Given the description of an element on the screen output the (x, y) to click on. 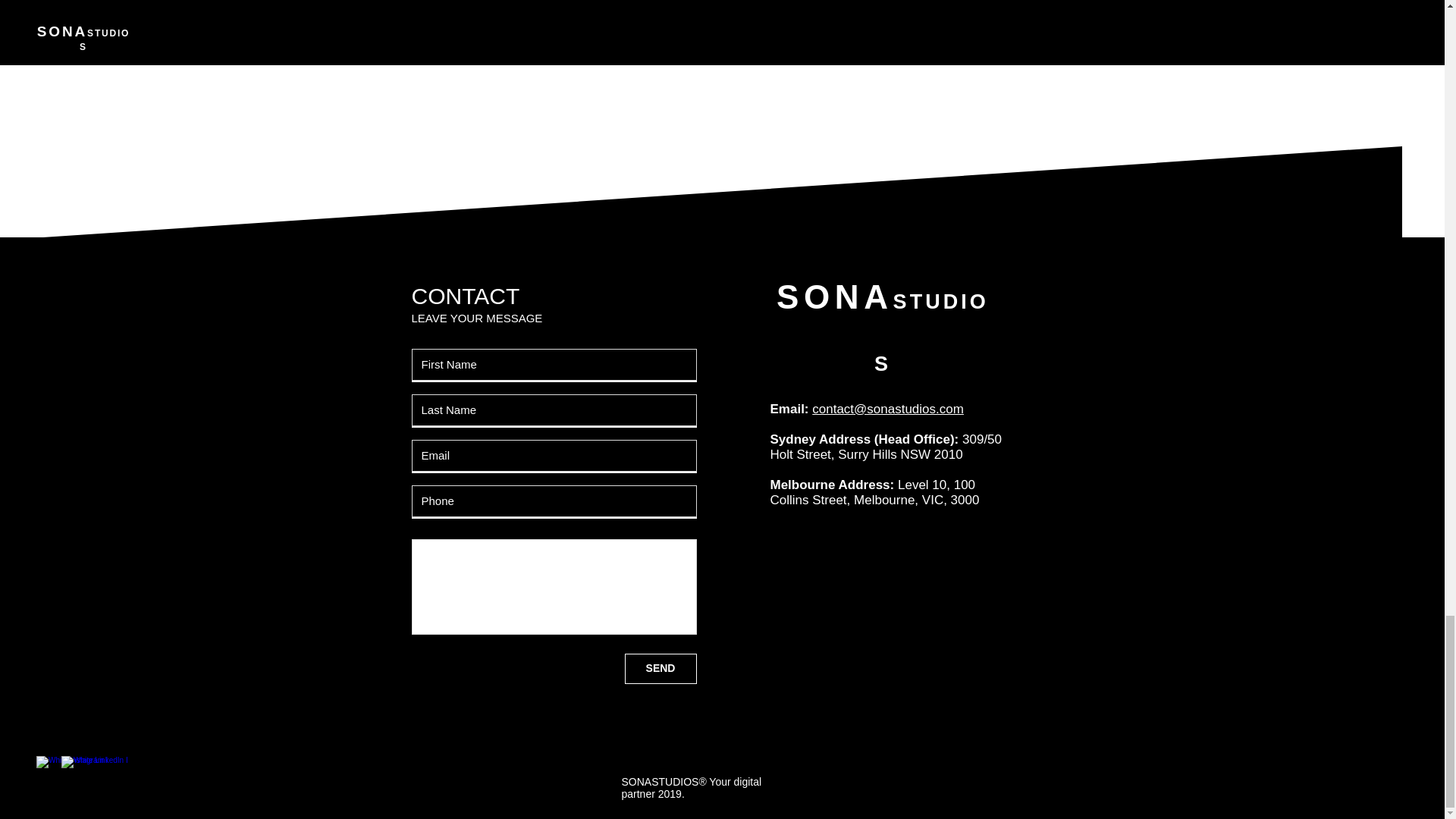
SEND (660, 668)
